Given the description of an element on the screen output the (x, y) to click on. 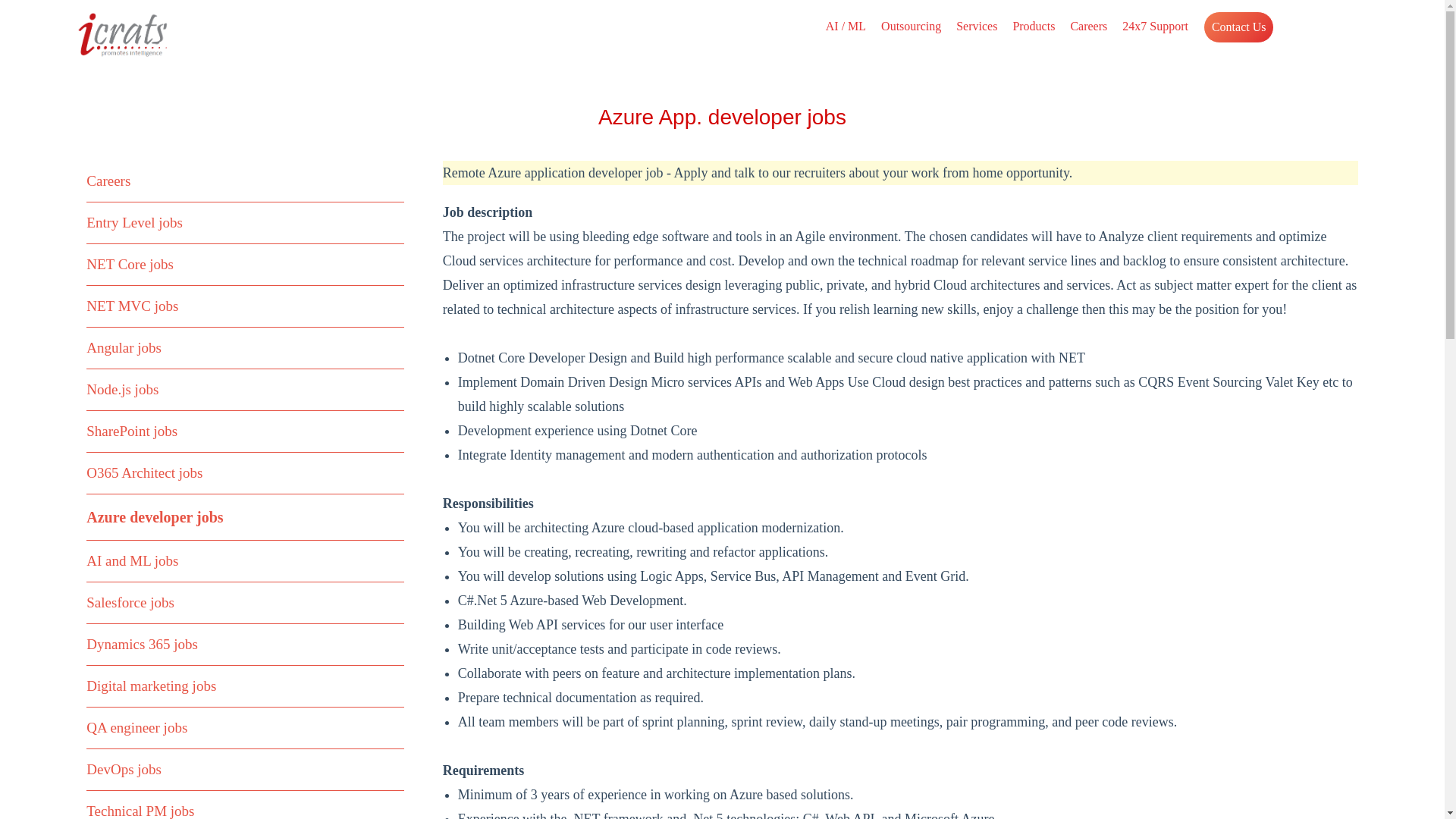
Products (1032, 25)
Salesforce jobs (129, 602)
DevOps jobs (123, 769)
Careers (108, 180)
Azure developer jobs (153, 516)
Digital marketing jobs (150, 685)
QA engineer jobs (136, 727)
24x7 Support (1155, 25)
Services (976, 25)
SharePoint jobs (131, 430)
Node.js jobs (121, 389)
NET MVC jobs (131, 305)
NET Core jobs (129, 263)
Dynamics 365 jobs (141, 643)
Technical PM jobs (139, 811)
